Given the description of an element on the screen output the (x, y) to click on. 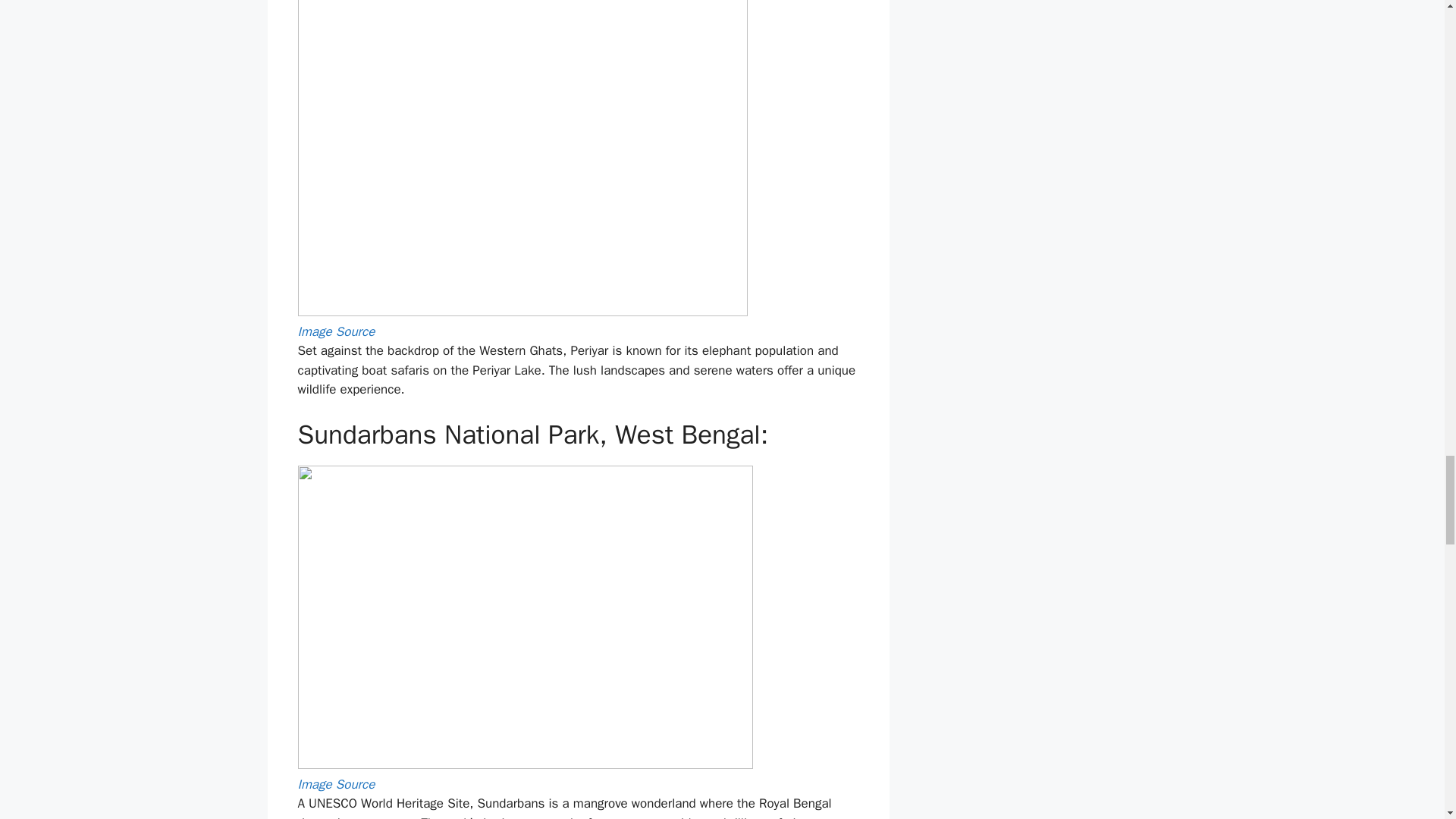
Image Source (335, 784)
Image Source (335, 331)
